Given the description of an element on the screen output the (x, y) to click on. 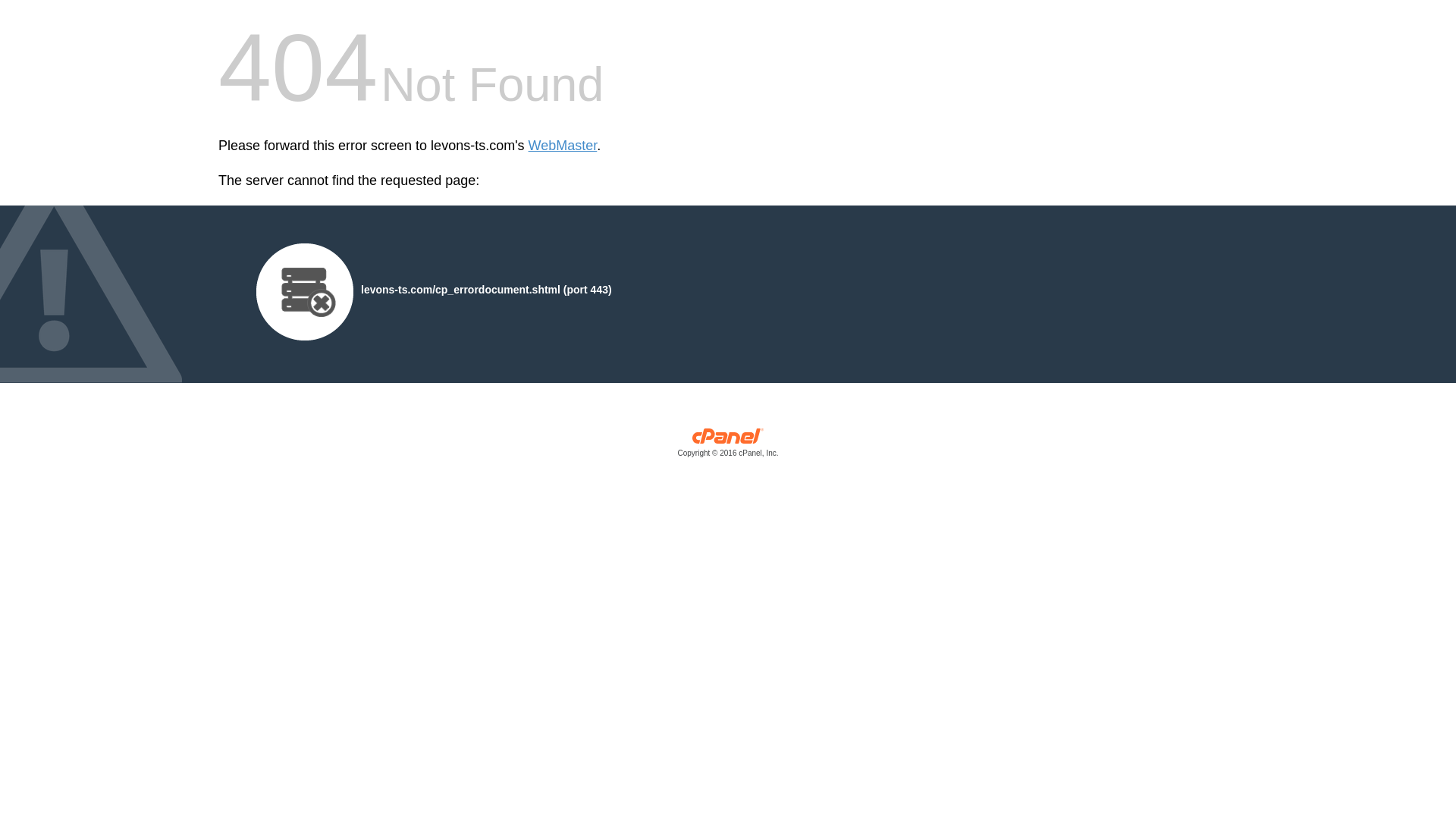
WebMaster (562, 145)
cPanel, Inc. (727, 446)
